Given the description of an element on the screen output the (x, y) to click on. 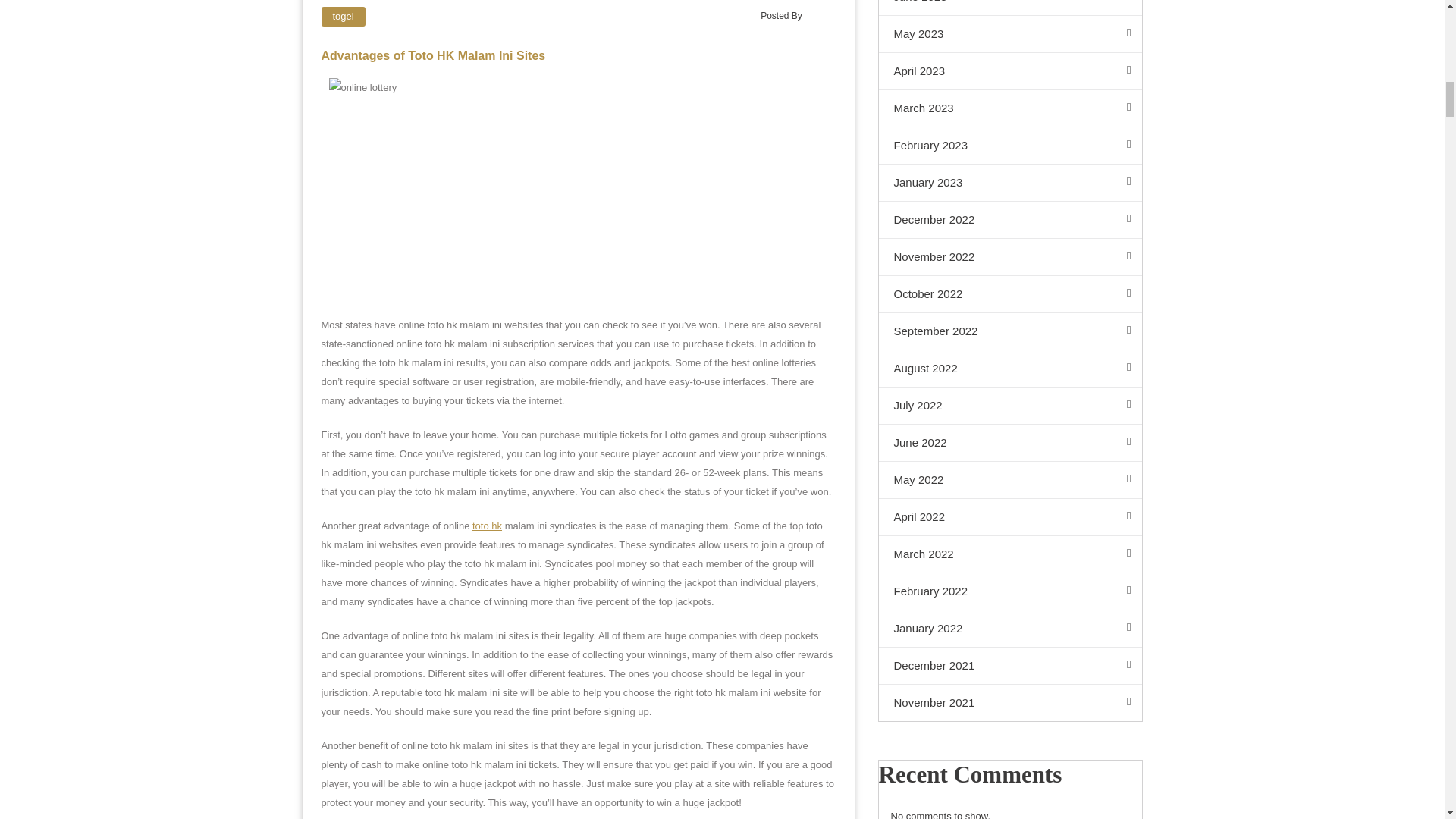
toto hk (486, 525)
togel (343, 16)
Advantages of Toto HK Malam Ini Sites (433, 55)
